Given the description of an element on the screen output the (x, y) to click on. 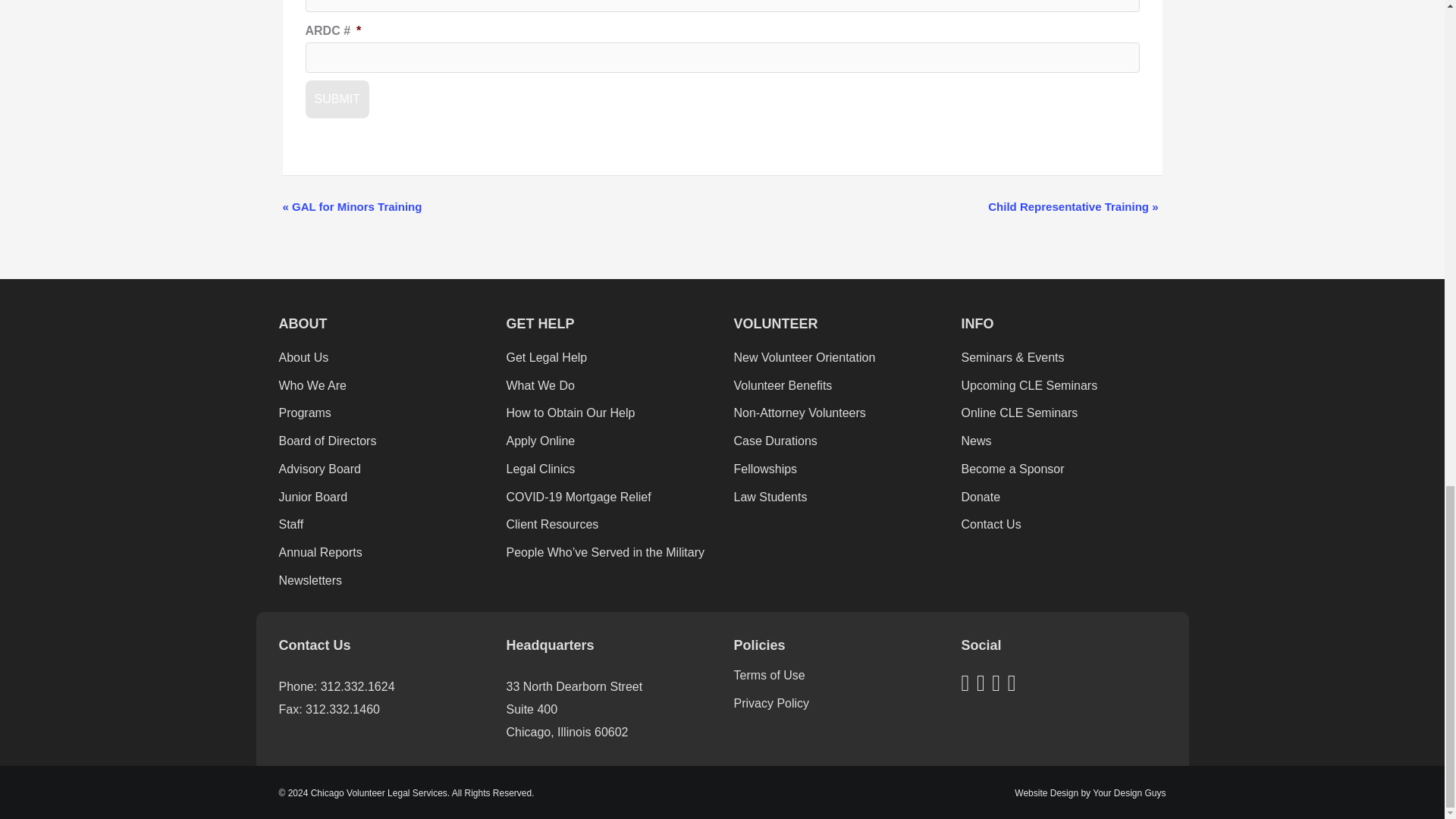
Submit (336, 98)
